Given the description of an element on the screen output the (x, y) to click on. 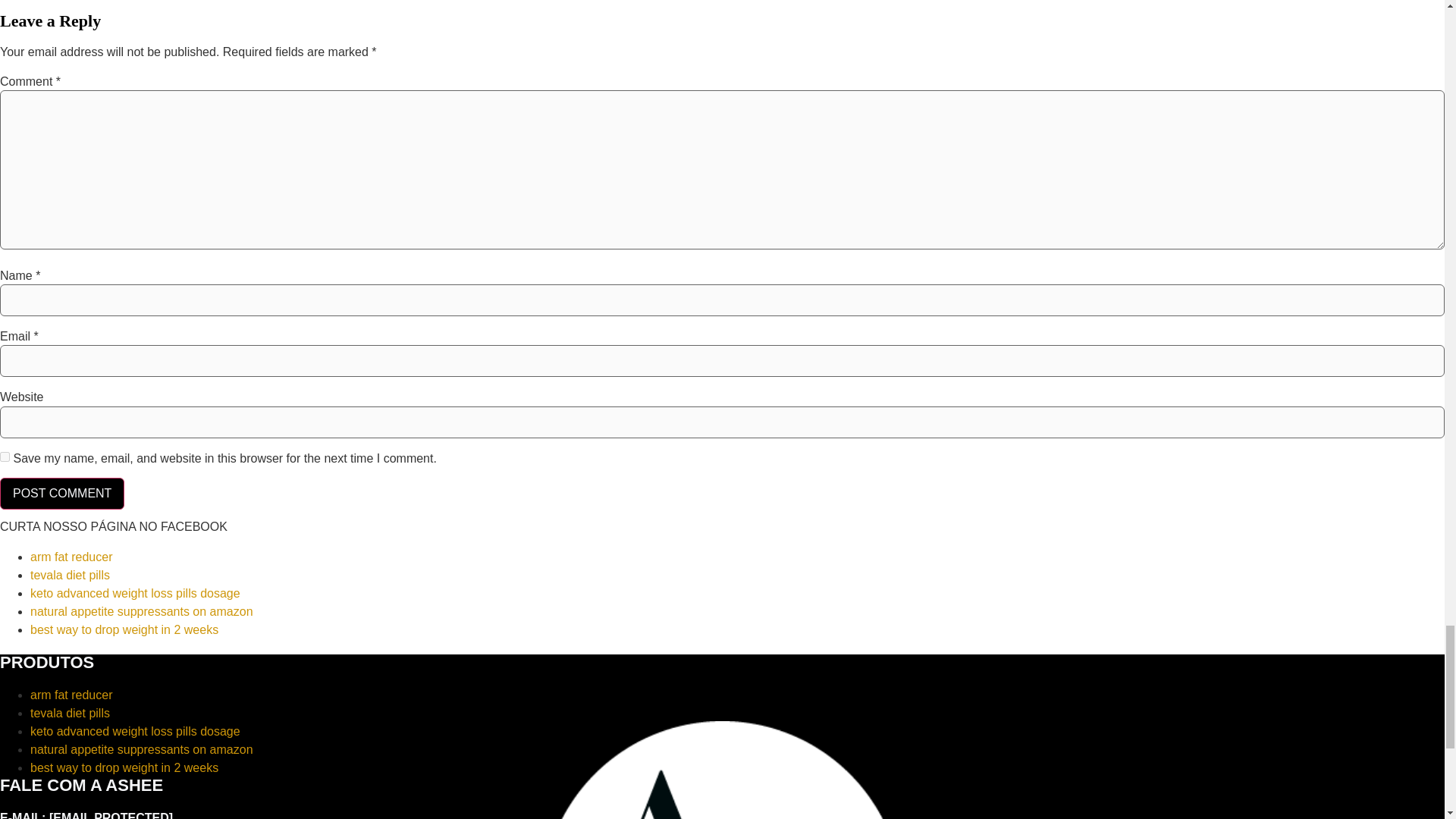
yes (5, 456)
natural appetite suppressants on amazon (141, 611)
Post Comment (61, 493)
best way to drop weight in 2 weeks (124, 767)
keto advanced weight loss pills dosage (135, 730)
tevala diet pills (70, 574)
best way to drop weight in 2 weeks (124, 629)
arm fat reducer (71, 694)
Post Comment (61, 493)
keto advanced weight loss pills dosage (135, 593)
arm fat reducer (71, 556)
natural appetite suppressants on amazon (141, 748)
tevala diet pills (70, 712)
